Given the description of an element on the screen output the (x, y) to click on. 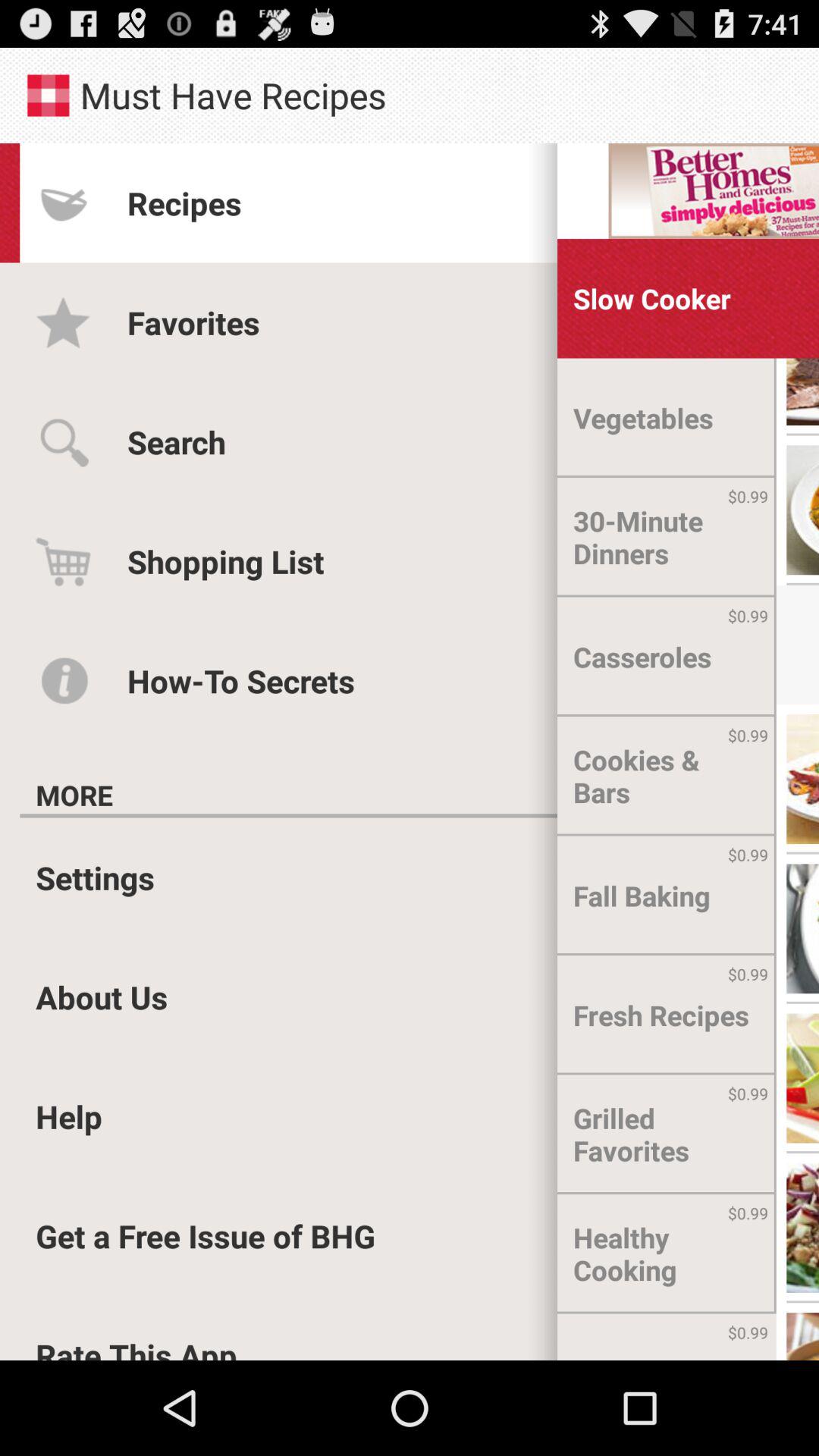
click the fall baking item (641, 895)
